Given the description of an element on the screen output the (x, y) to click on. 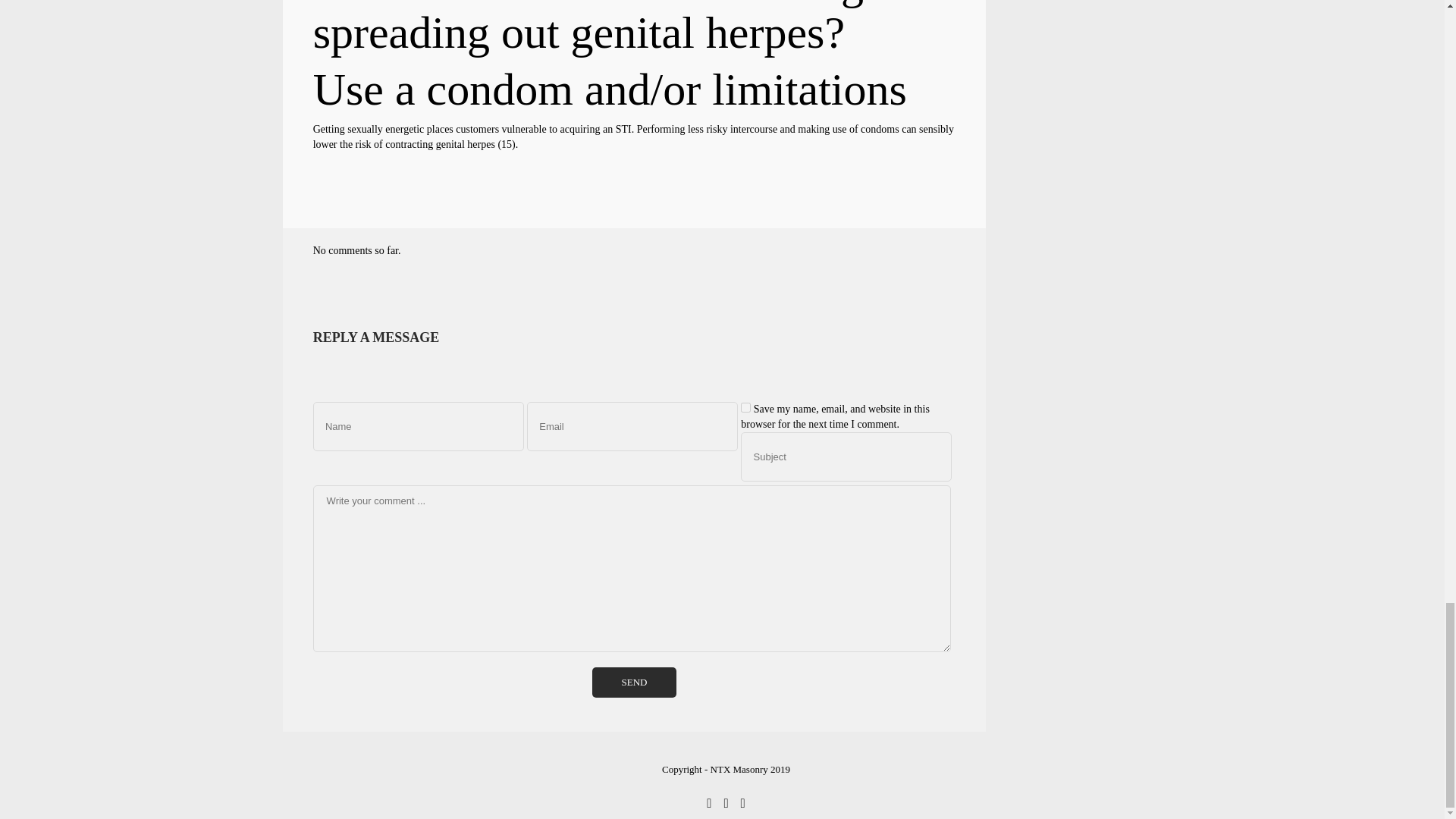
SEND (633, 682)
yes (746, 407)
SEND (633, 682)
